Given the description of an element on the screen output the (x, y) to click on. 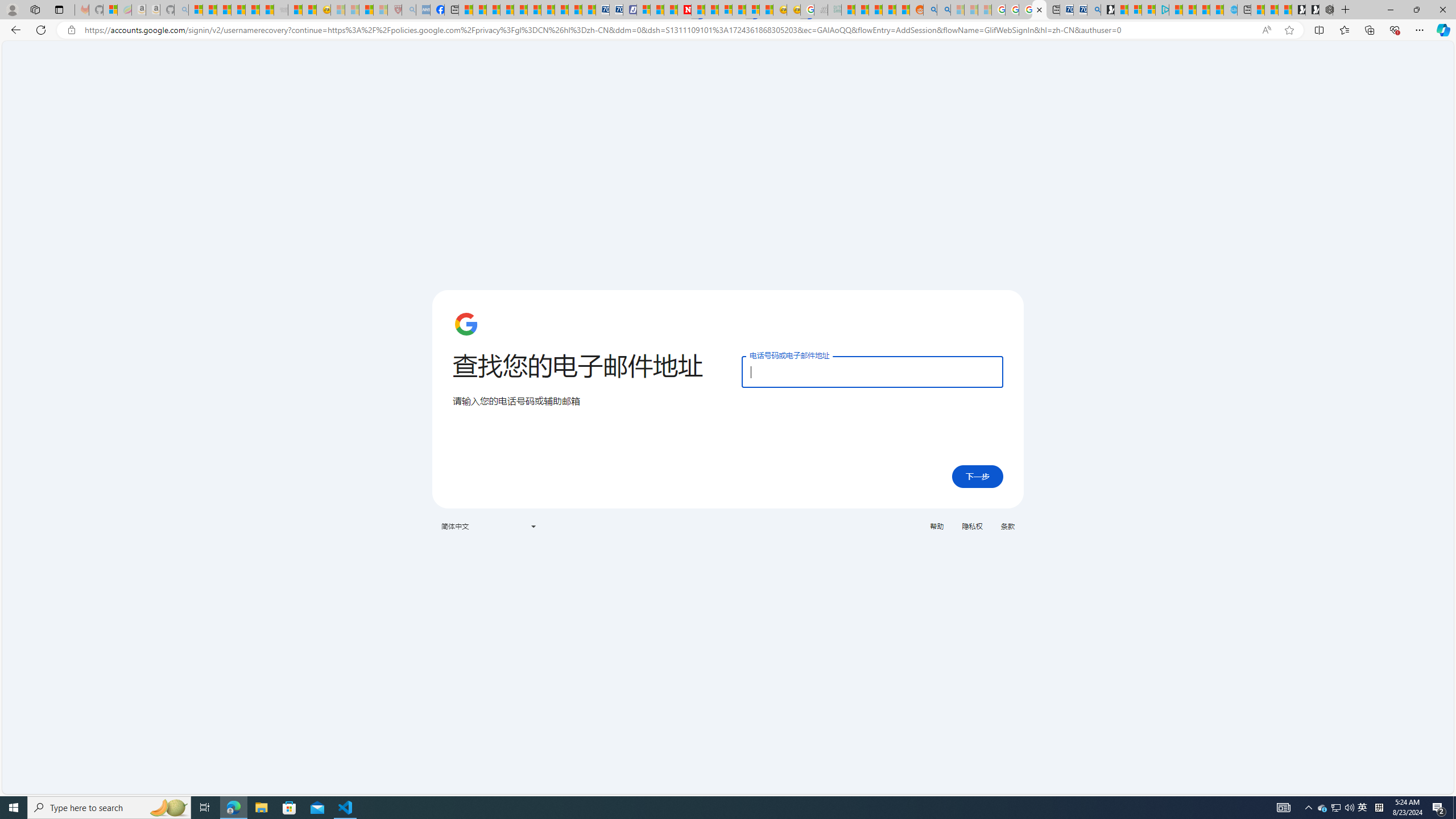
New Report Confirms 2023 Was Record Hot | Watch (252, 9)
The Weather Channel - MSN (223, 9)
Bing Real Estate - Home sales and rental listings (1093, 9)
